Given the description of an element on the screen output the (x, y) to click on. 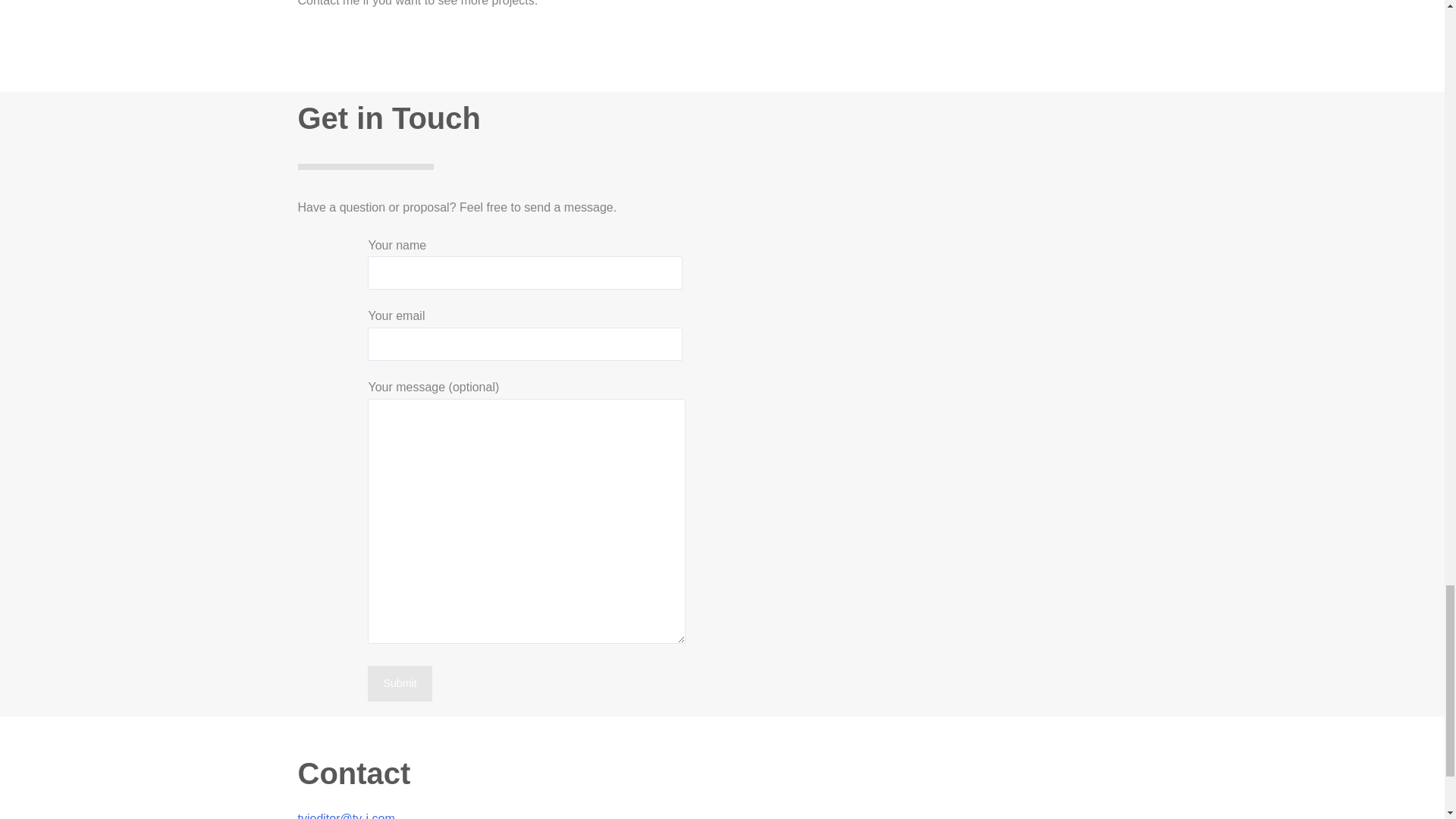
Submit (399, 683)
Submit (399, 683)
